Given the description of an element on the screen output the (x, y) to click on. 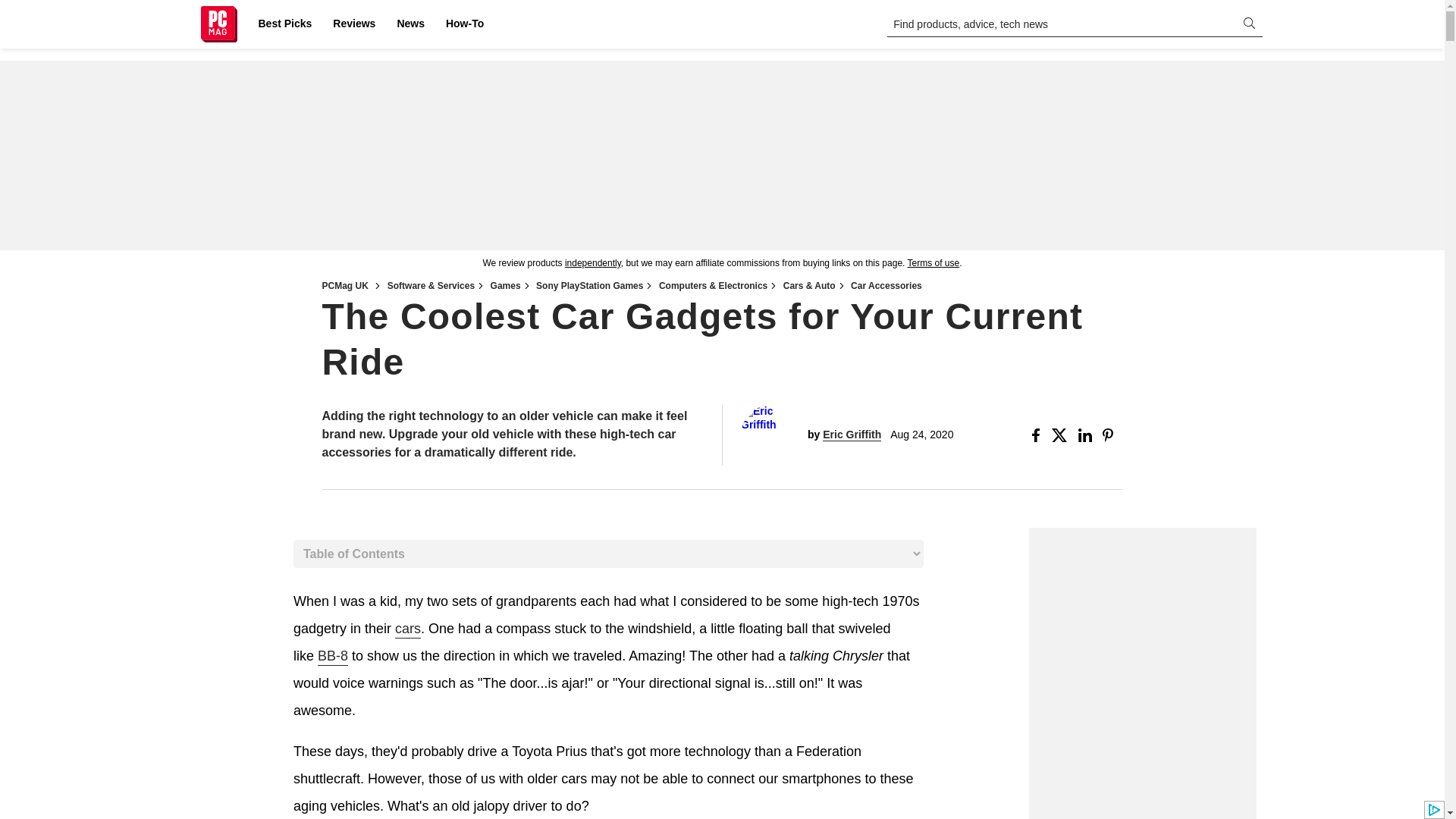
Share this Story on Facebook (1038, 435)
Share this Story on Pinterest (1112, 435)
Share this Story on Linkedin (1087, 435)
Share this Story on X (1061, 435)
Best Picks (284, 24)
